Given the description of an element on the screen output the (x, y) to click on. 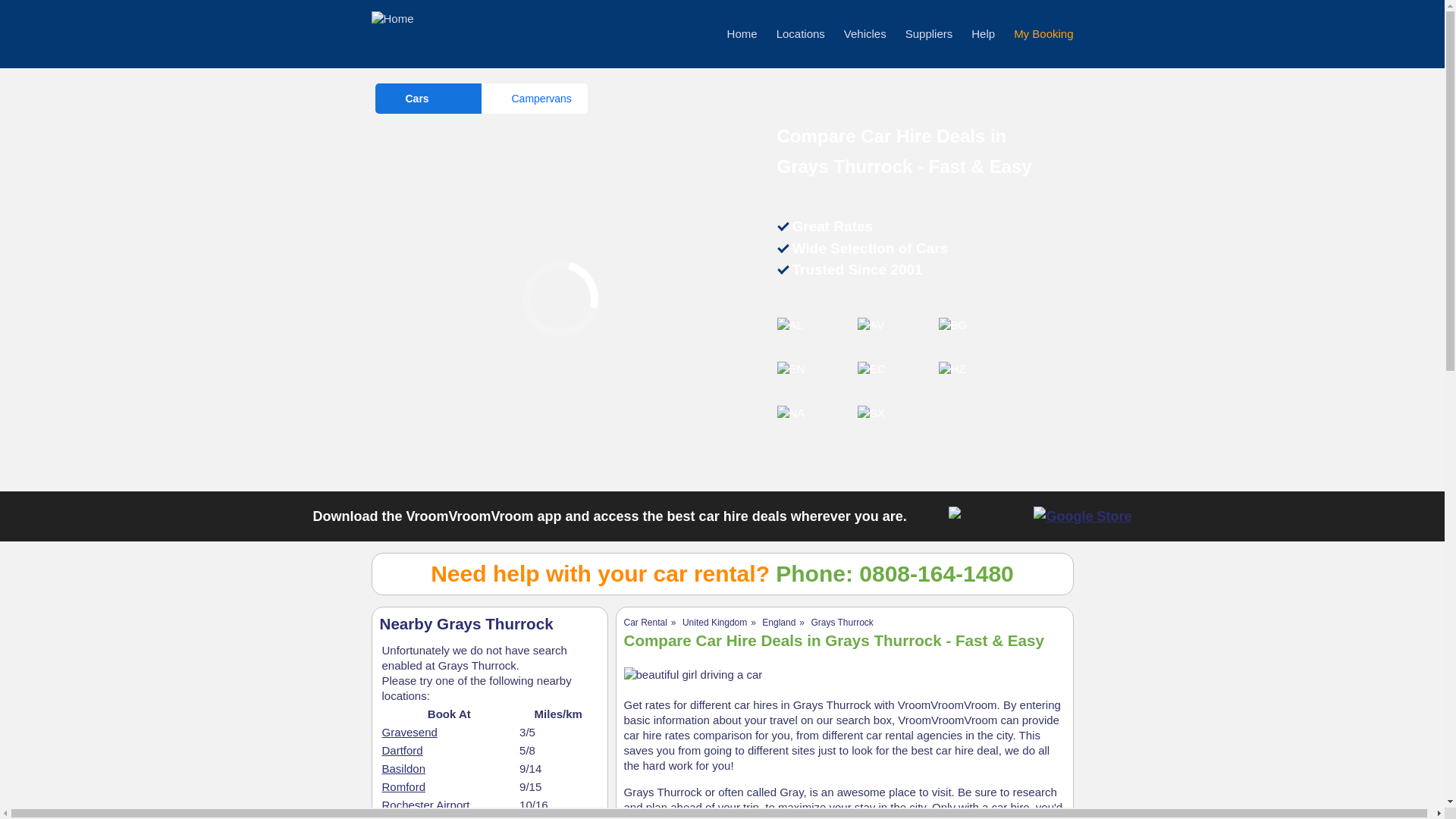
Basildon (403, 768)
Rochester Airport (425, 804)
Locations (800, 33)
Rochester (407, 817)
IOS App (987, 516)
Campervans (533, 98)
Help (982, 33)
Vehicles (865, 33)
Google App (1082, 516)
My Booking (1043, 33)
Dartford (402, 749)
Suppliers (929, 33)
Gravesend (409, 731)
Cars (427, 98)
Home (741, 33)
